Given the description of an element on the screen output the (x, y) to click on. 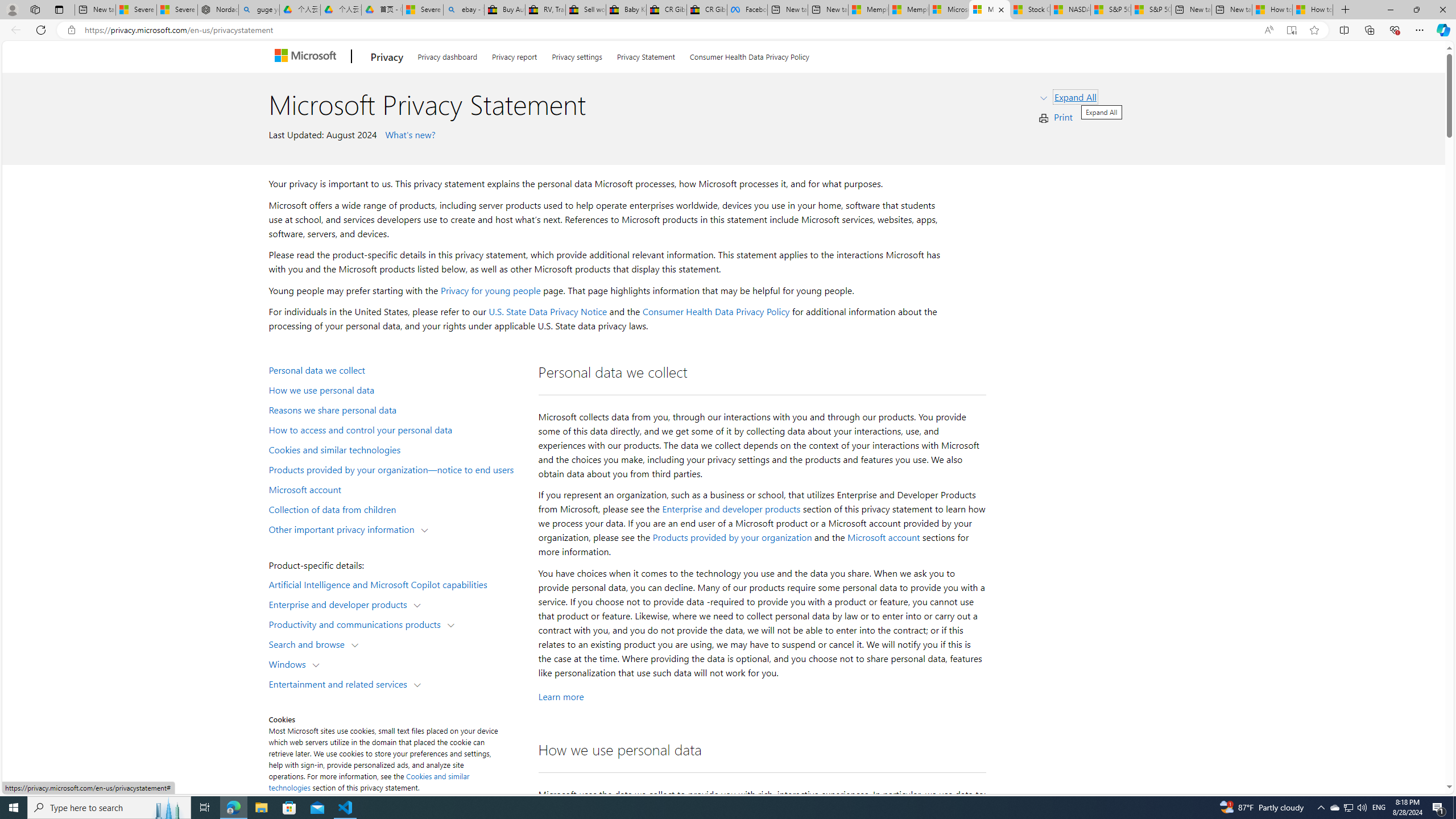
Privacy Statement (645, 54)
How to access and control your personal data (395, 428)
Entertainment and related services (340, 683)
Privacy report (514, 54)
Microsoft account (883, 537)
